Given the description of an element on the screen output the (x, y) to click on. 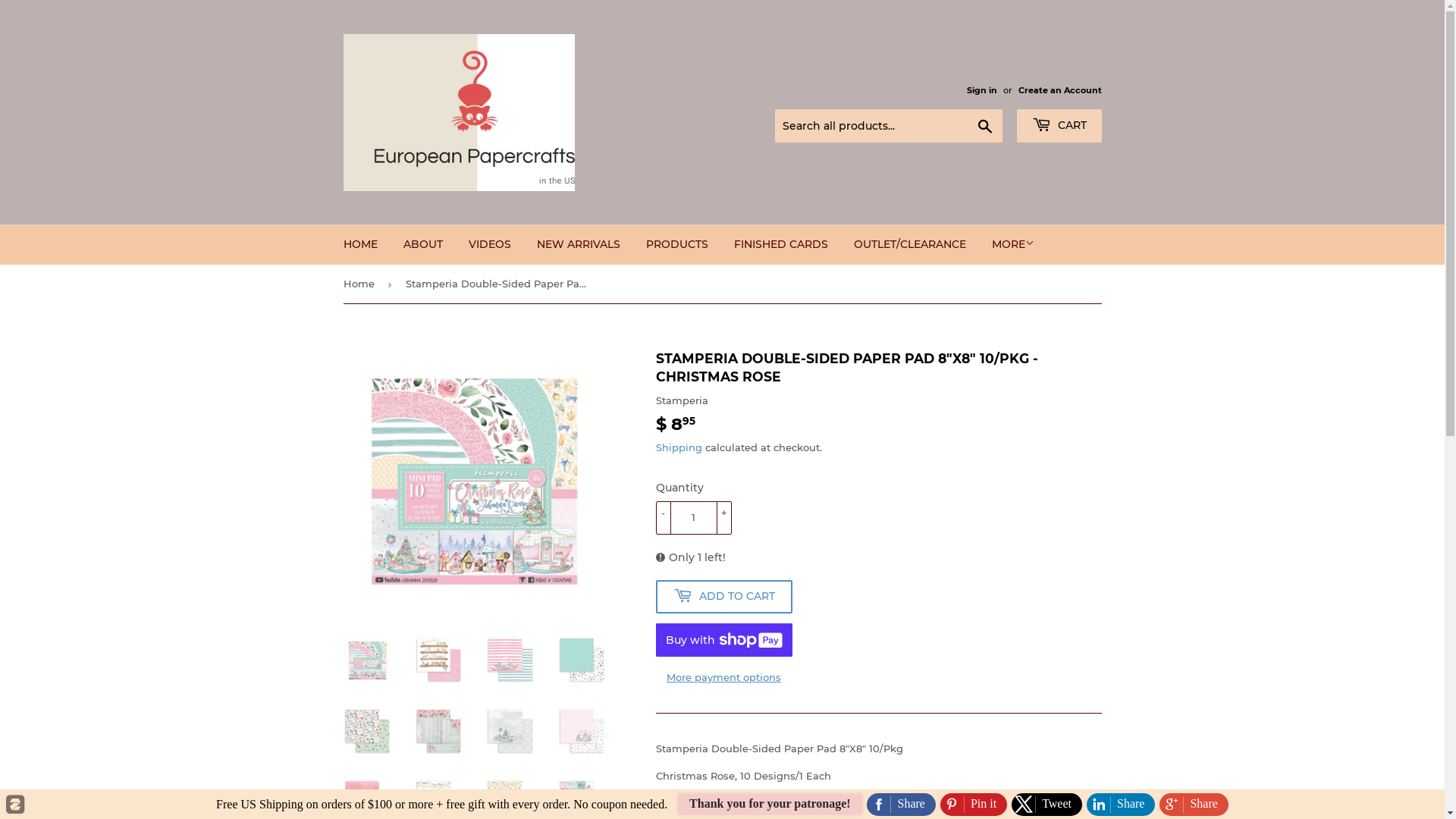
FINISHED CARDS Element type: text (779, 243)
ADD TO CART Element type: text (723, 596)
Share Element type: text (1193, 804)
NEW ARRIVALS Element type: text (577, 243)
OUTLET/CLEARANCE Element type: text (908, 243)
Share Element type: text (1120, 804)
HOME Element type: text (360, 243)
Home Element type: text (360, 283)
VIDEOS Element type: text (488, 243)
ABOUT Element type: text (422, 243)
Shipping Element type: text (678, 447)
More payment options Element type: text (723, 677)
Pin it Element type: text (973, 804)
Sign in Element type: text (981, 89)
Share Element type: text (900, 804)
PRODUCTS Element type: text (675, 243)
Search Element type: text (984, 126)
Thank you for your patronage! Element type: text (769, 803)
CART Element type: text (1058, 125)
Create an Account Element type: text (1059, 89)
MORE Element type: text (1011, 243)
Tweet Element type: text (1046, 804)
